Given the description of an element on the screen output the (x, y) to click on. 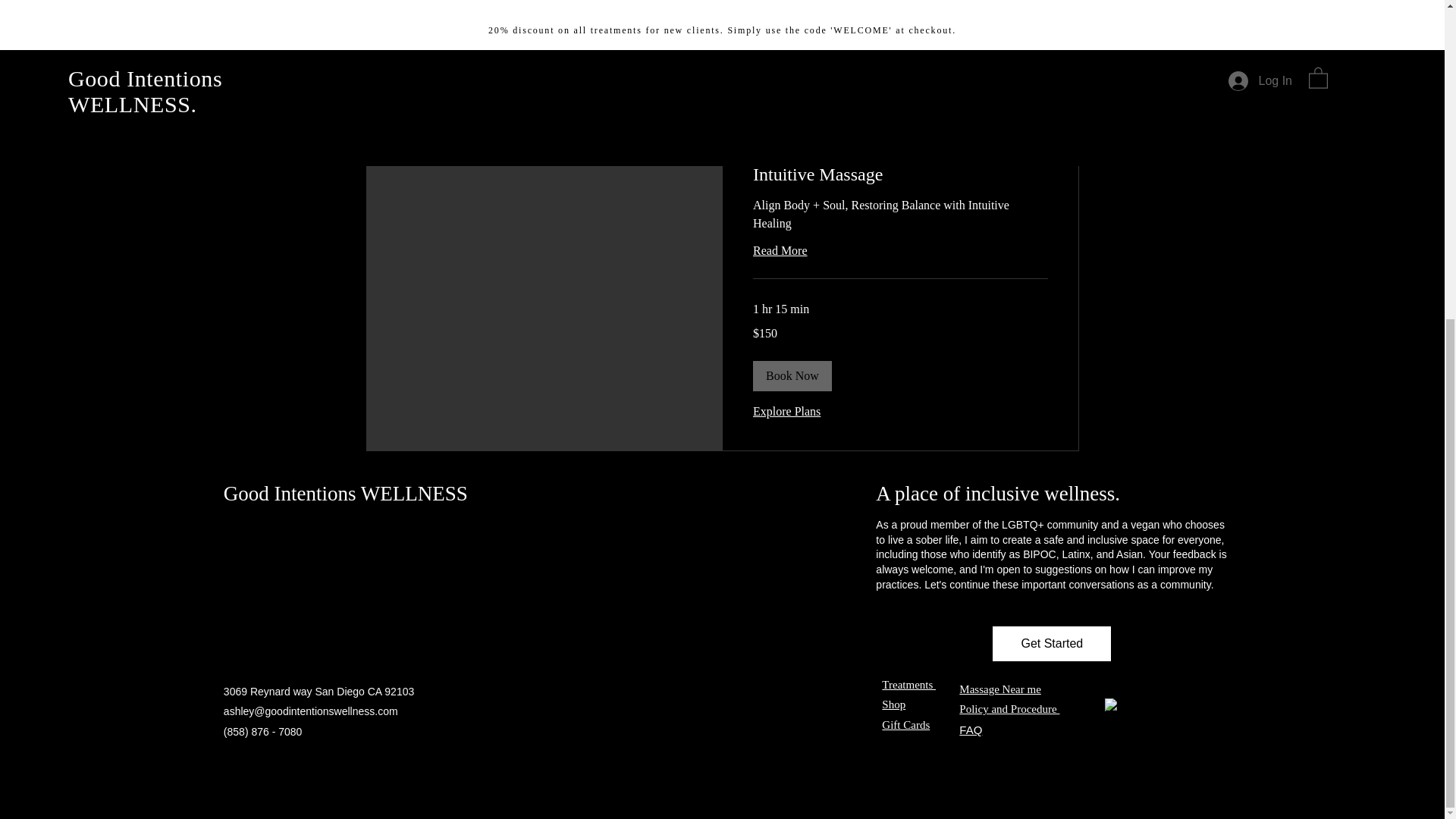
Intuitive Massage (899, 174)
Good Intentions WELLNESS  (348, 493)
Get Started (1051, 643)
Treatments  (909, 684)
Massage Near me (1000, 689)
Shop (893, 704)
Policy and Procedure  (1009, 708)
Explore Plans (785, 411)
Gift Cards (906, 725)
Book Now (791, 376)
Read More (899, 250)
FAQ (970, 729)
